Given the description of an element on the screen output the (x, y) to click on. 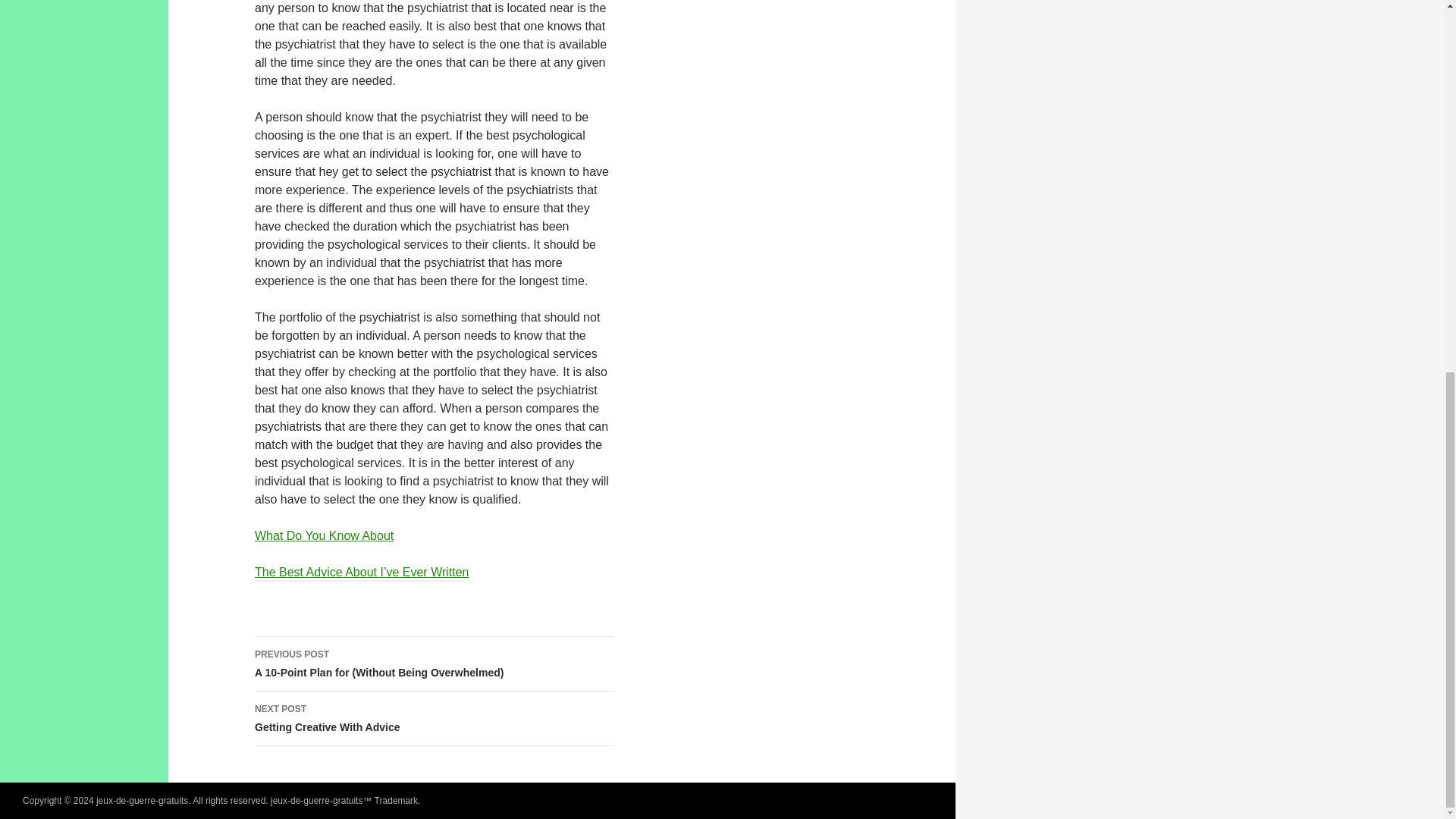
What Do You Know About (323, 535)
